Given the description of an element on the screen output the (x, y) to click on. 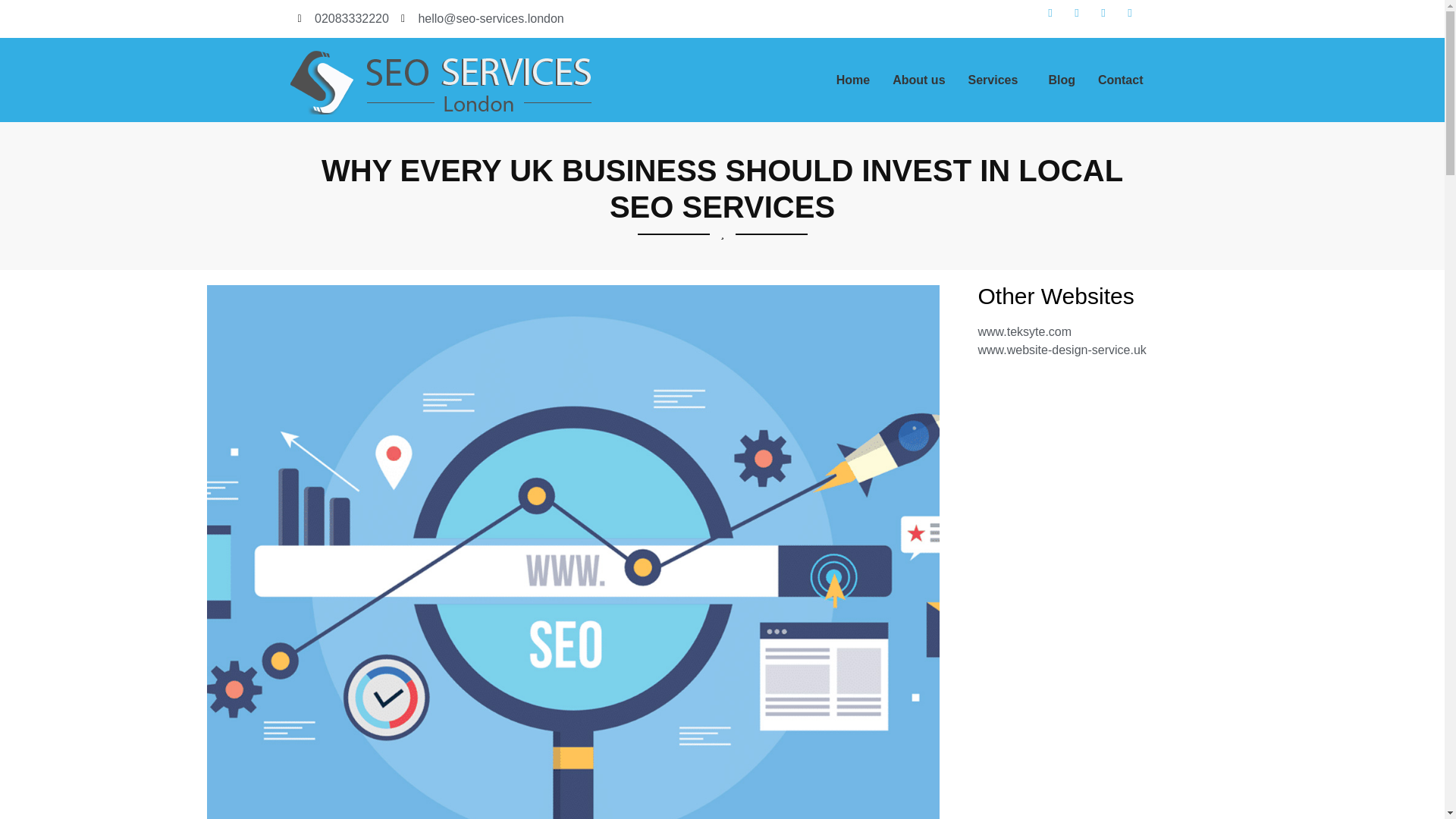
www.teksyte.com (1106, 331)
02083332220 (342, 18)
About us (918, 80)
Services (996, 80)
www.website-design-service.uk (1106, 350)
